Given the description of an element on the screen output the (x, y) to click on. 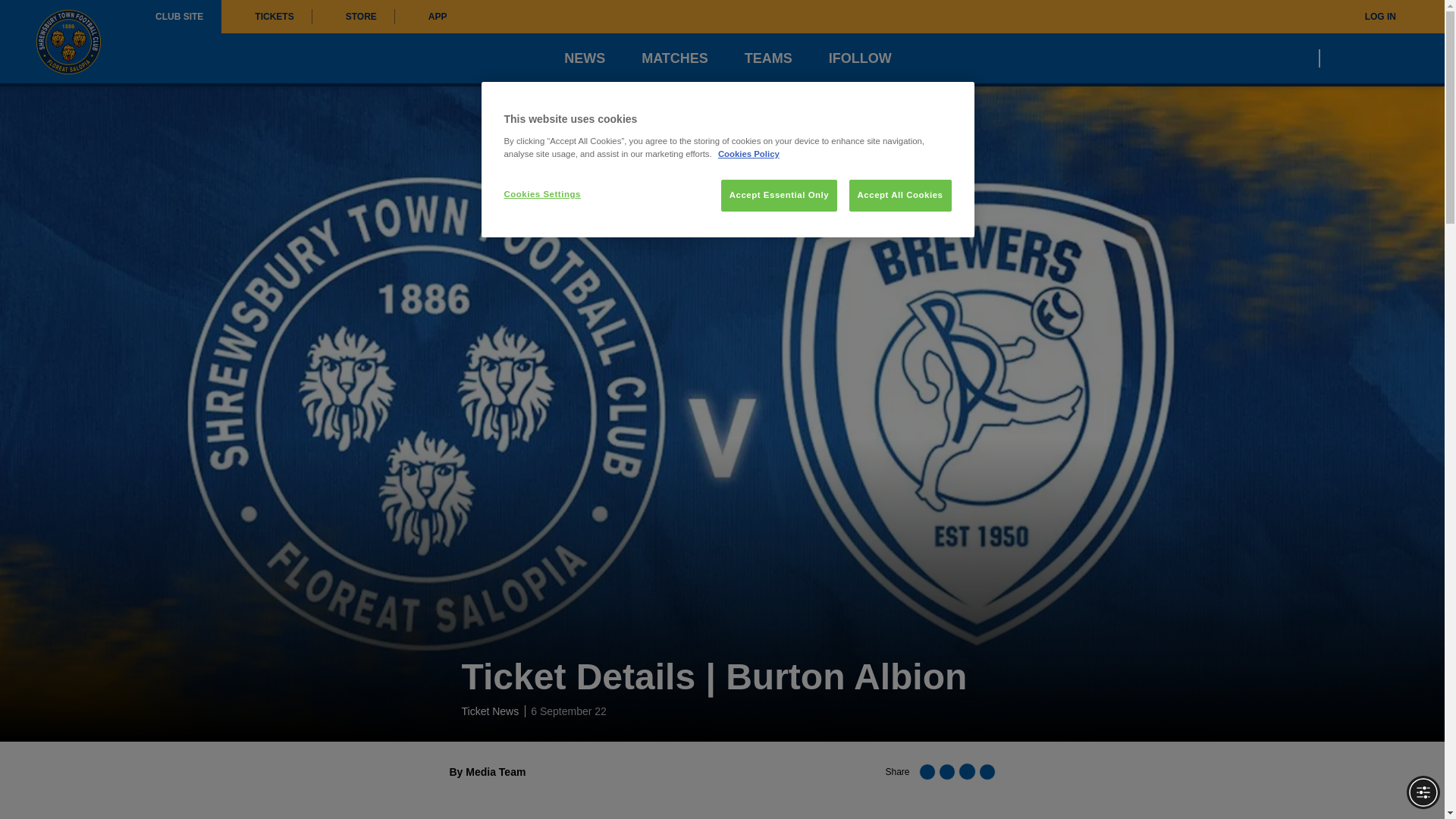
MATCHES (674, 58)
TEAMS (768, 58)
TICKETS (266, 16)
STORE (353, 16)
Accessibility Menu (1422, 792)
Help widget launcher (75, 781)
CLUB SITE (178, 16)
APP (429, 16)
IFOLLOW (859, 58)
